Given the description of an element on the screen output the (x, y) to click on. 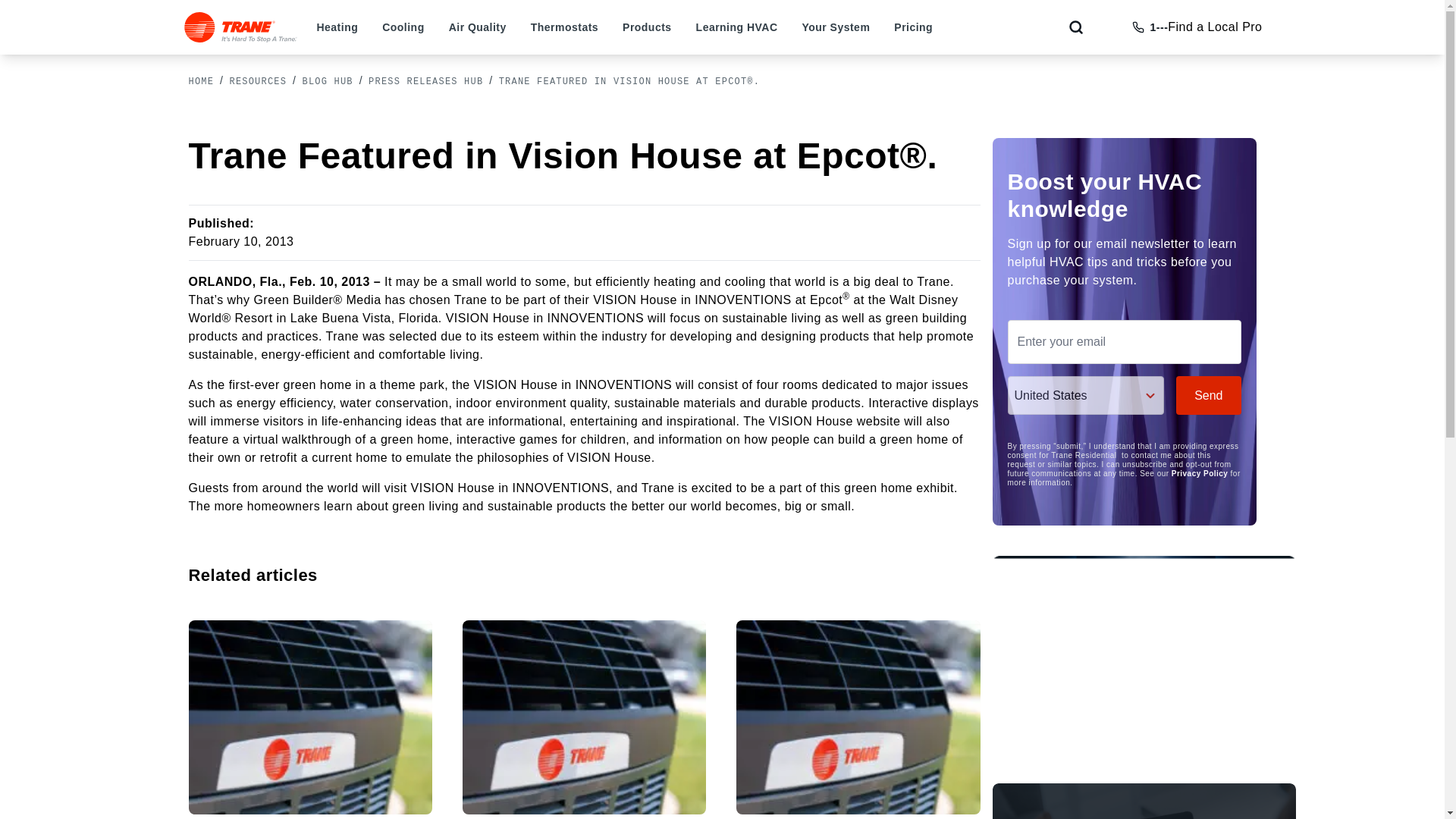
Heating (337, 27)
Products (647, 27)
Air Quality (477, 27)
Thermostats (564, 27)
Cooling (402, 27)
